Given the description of an element on the screen output the (x, y) to click on. 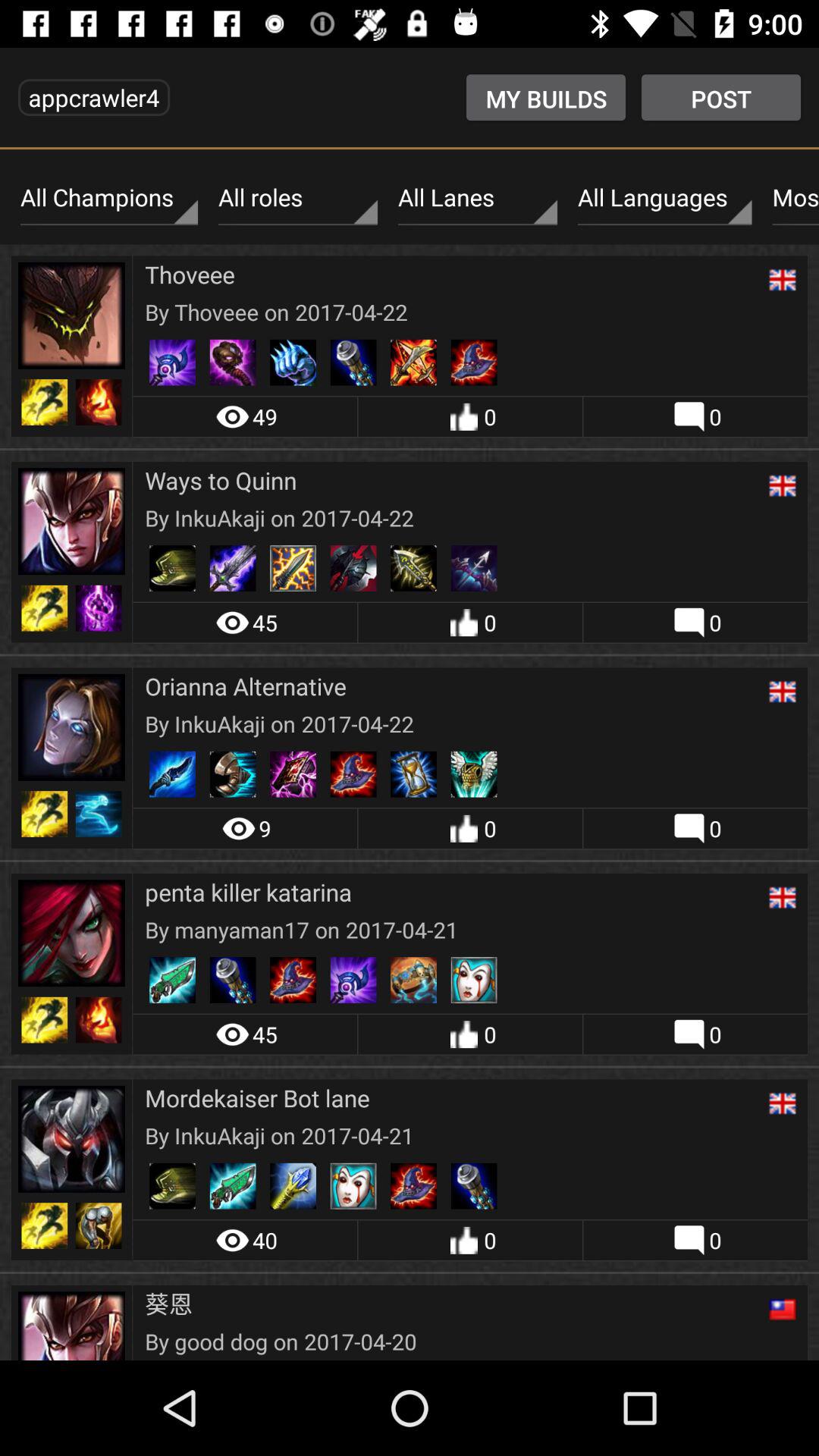
choose the all champions (108, 198)
